Given the description of an element on the screen output the (x, y) to click on. 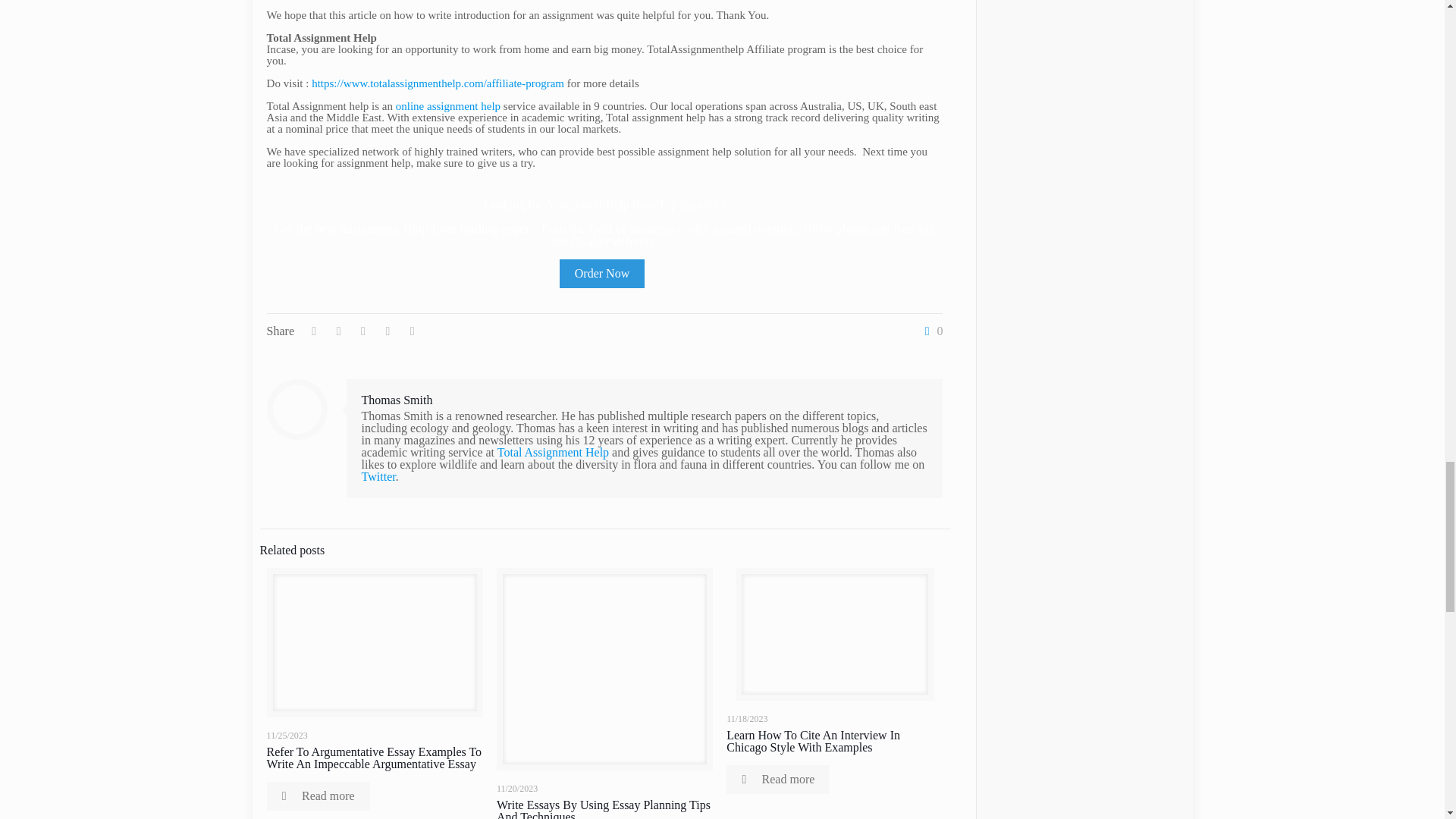
Read more (777, 778)
Write Essays By Using Essay Planning Tips And Techniques (603, 808)
Order Now (602, 273)
Thomas Smith (396, 399)
0 (930, 331)
Total Assignment Help (552, 451)
online assignment help (448, 105)
Twitter (378, 476)
